Given the description of an element on the screen output the (x, y) to click on. 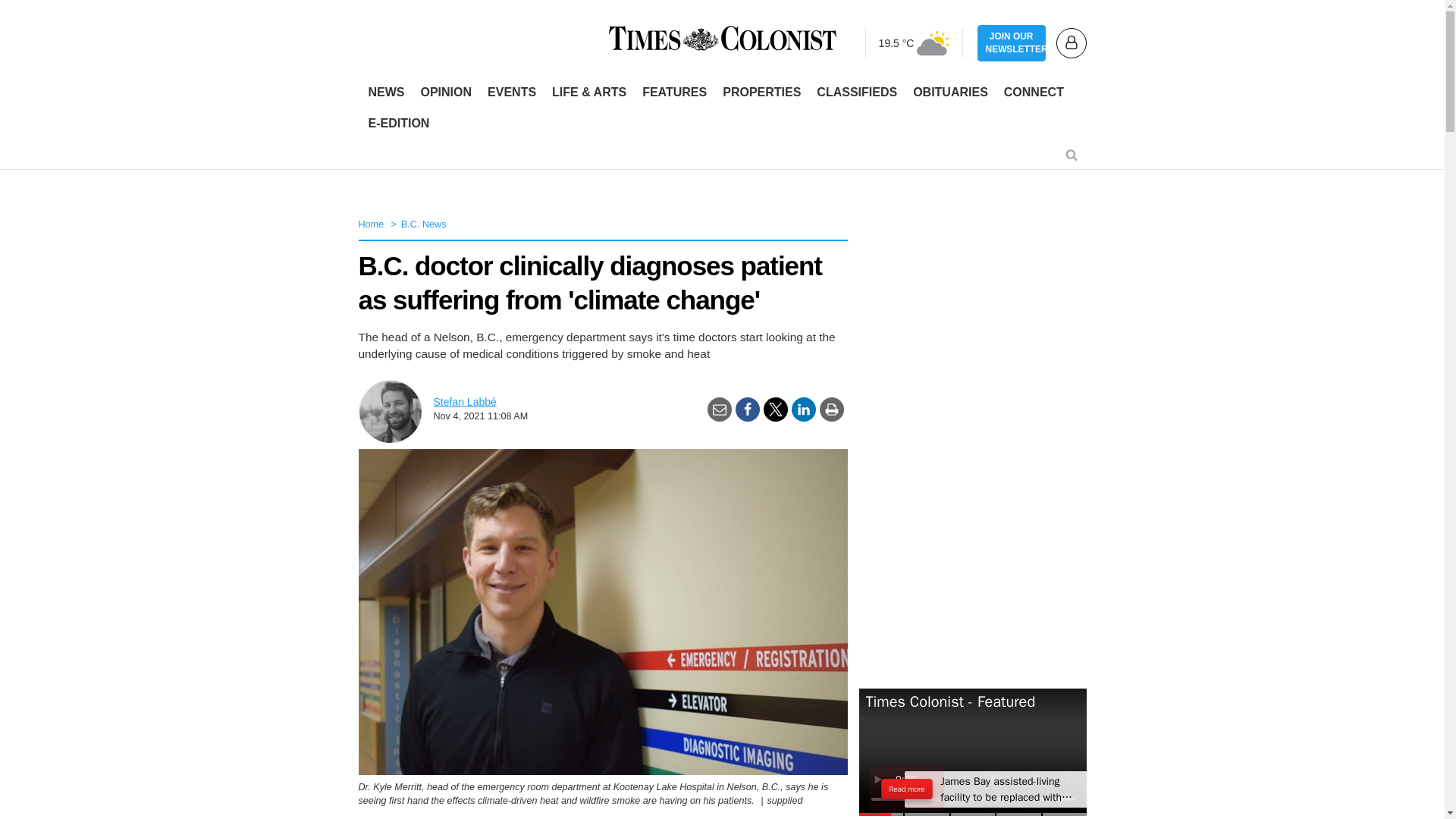
JOIN OUR NEWSLETTER (1010, 43)
EVENTS (511, 92)
OPINION (445, 92)
NEWS (386, 92)
3rd party ad content (721, 157)
